Given the description of an element on the screen output the (x, y) to click on. 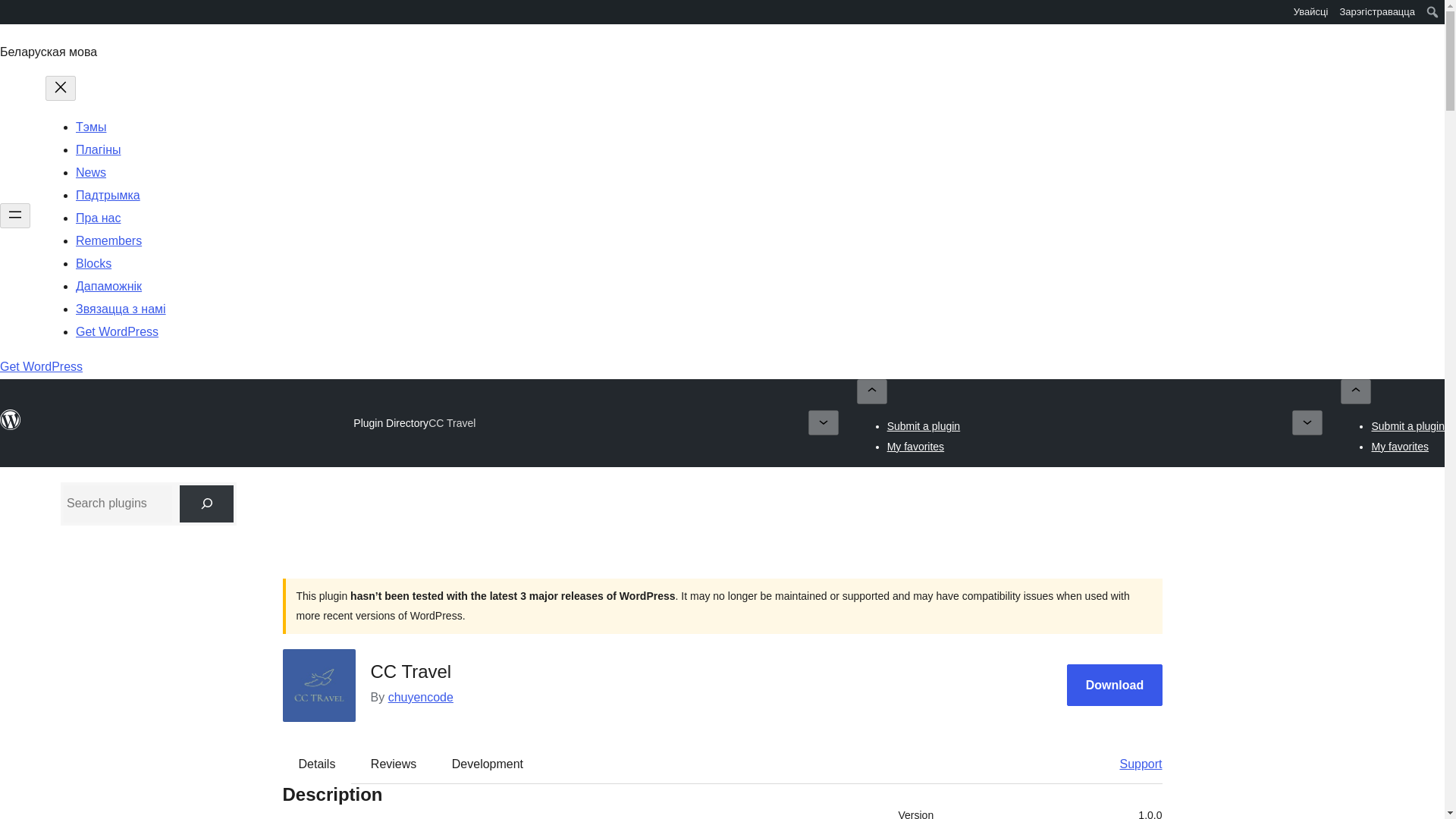
chuyencode (420, 697)
WordPress.org (10, 16)
WordPress.org (10, 419)
Development (487, 763)
CC Travel (452, 422)
My favorites (1399, 445)
My favorites (914, 445)
Blocks (93, 263)
Remembers (108, 240)
Get WordPress (41, 366)
Reviews (392, 763)
WordPress.org (10, 426)
News (90, 172)
Details (316, 763)
WordPress.org (10, 10)
